Given the description of an element on the screen output the (x, y) to click on. 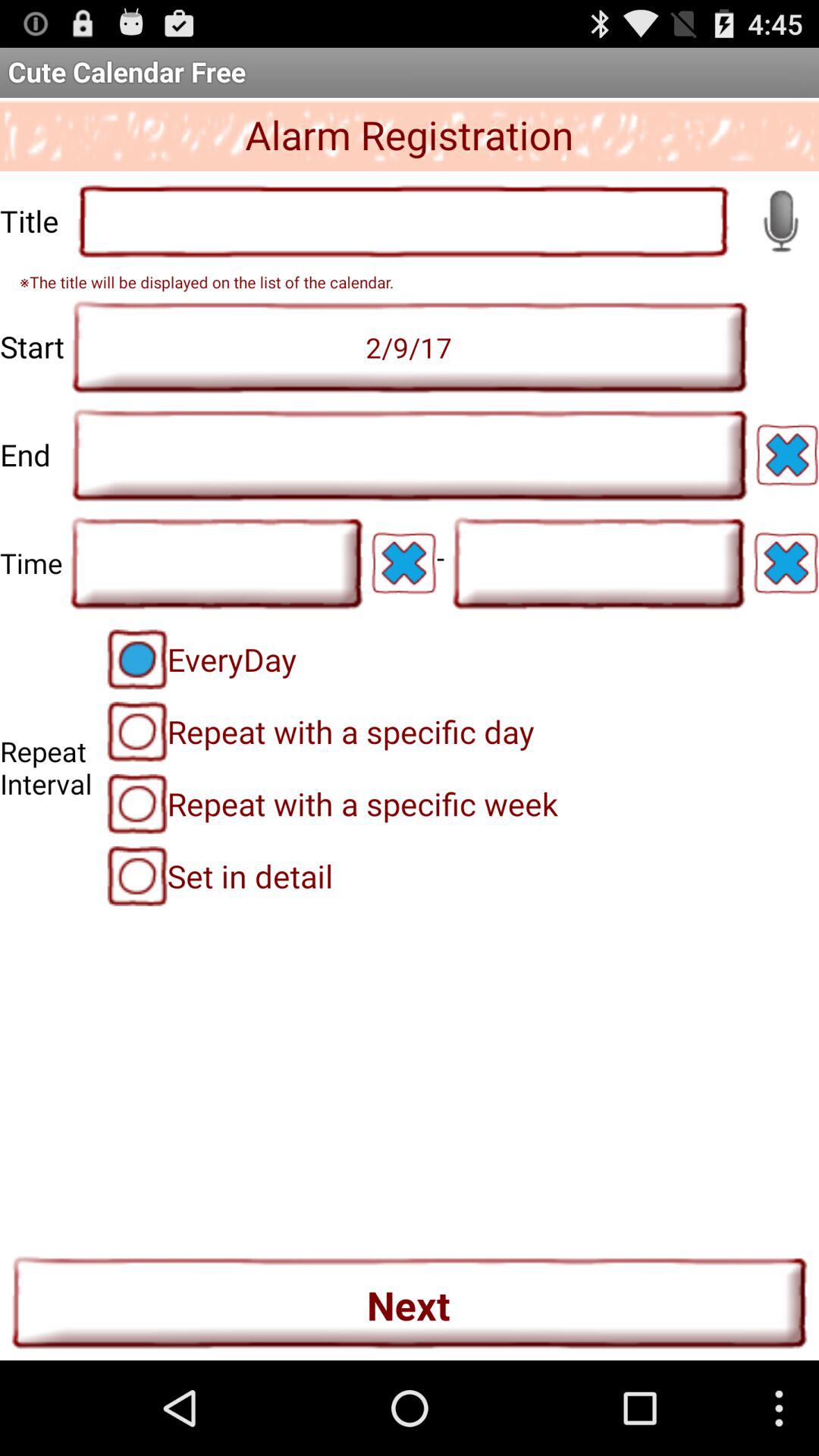
delete what i typed (403, 562)
